Given the description of an element on the screen output the (x, y) to click on. 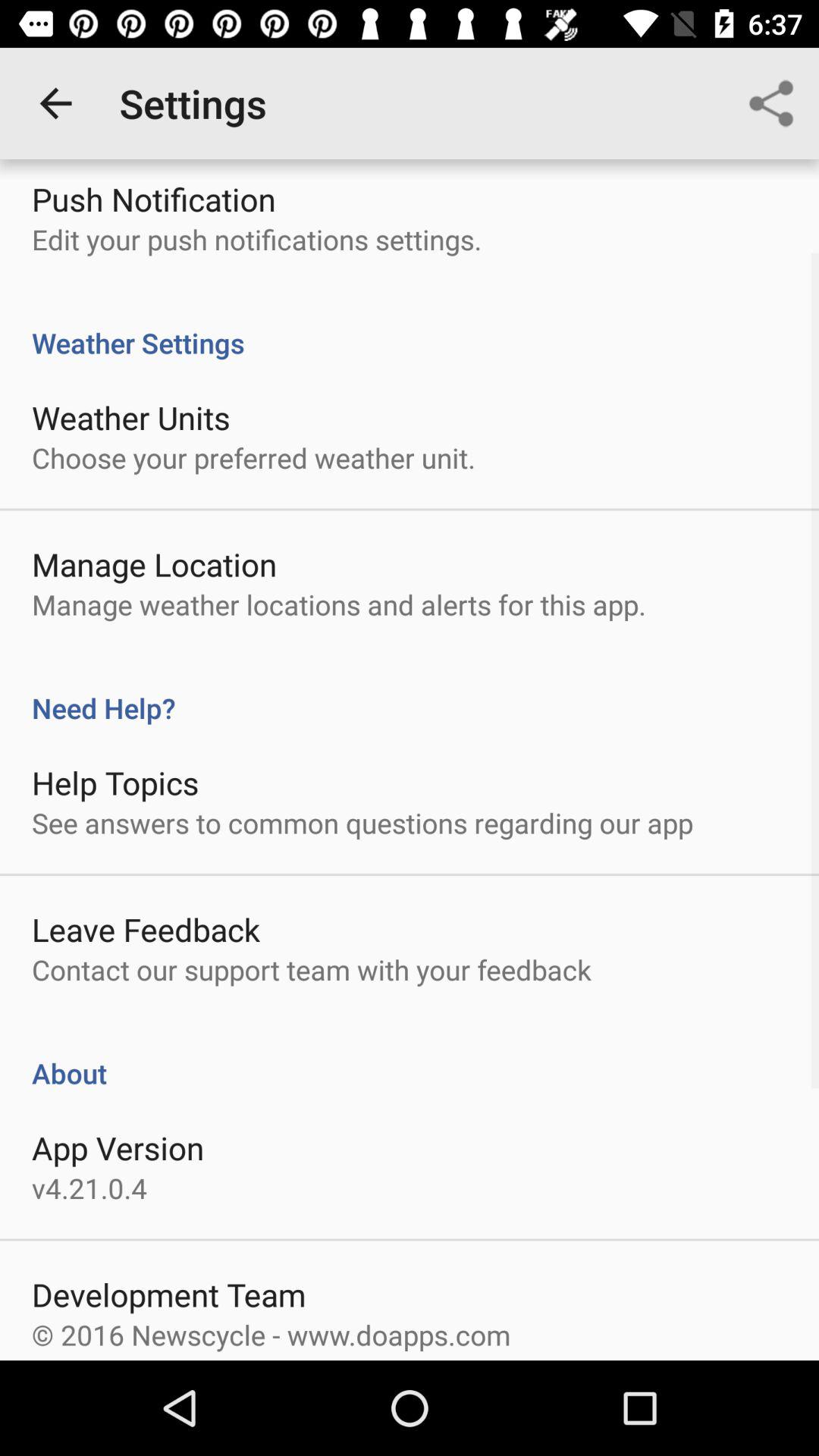
press help topics icon (115, 782)
